Given the description of an element on the screen output the (x, y) to click on. 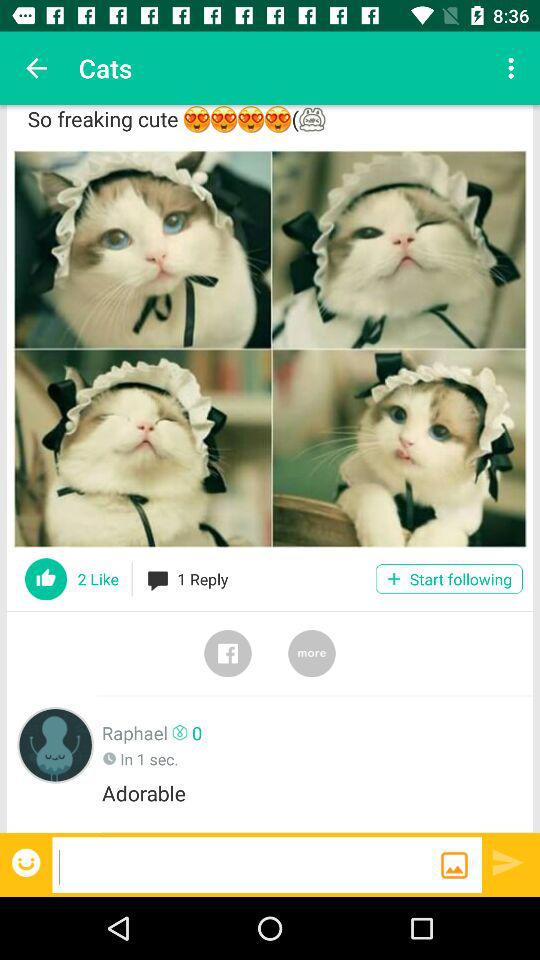
toggle to more options click to more options (312, 653)
